Given the description of an element on the screen output the (x, y) to click on. 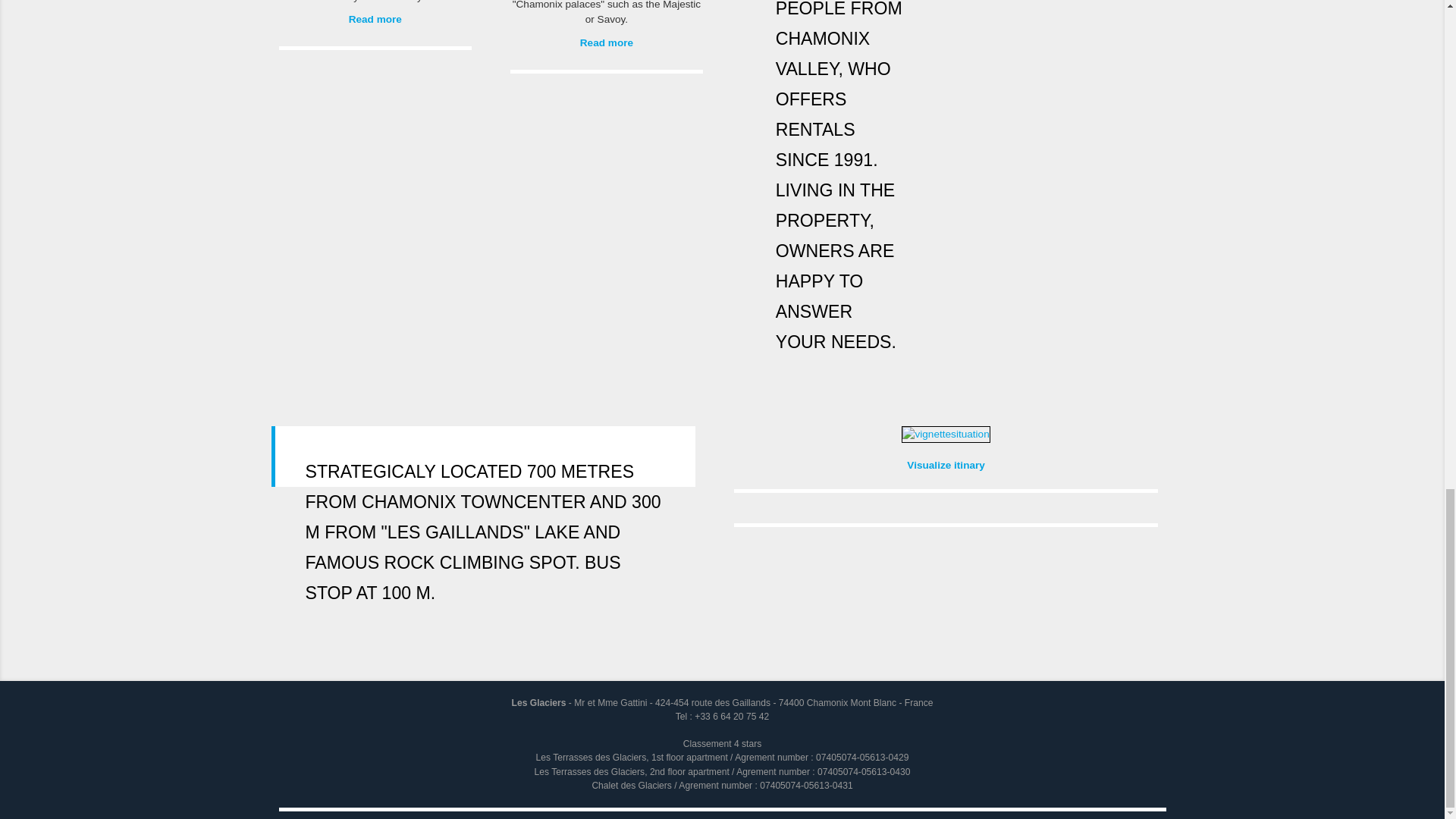
Read more (606, 42)
Visualize itinary (946, 464)
Read more (375, 19)
